Given the description of an element on the screen output the (x, y) to click on. 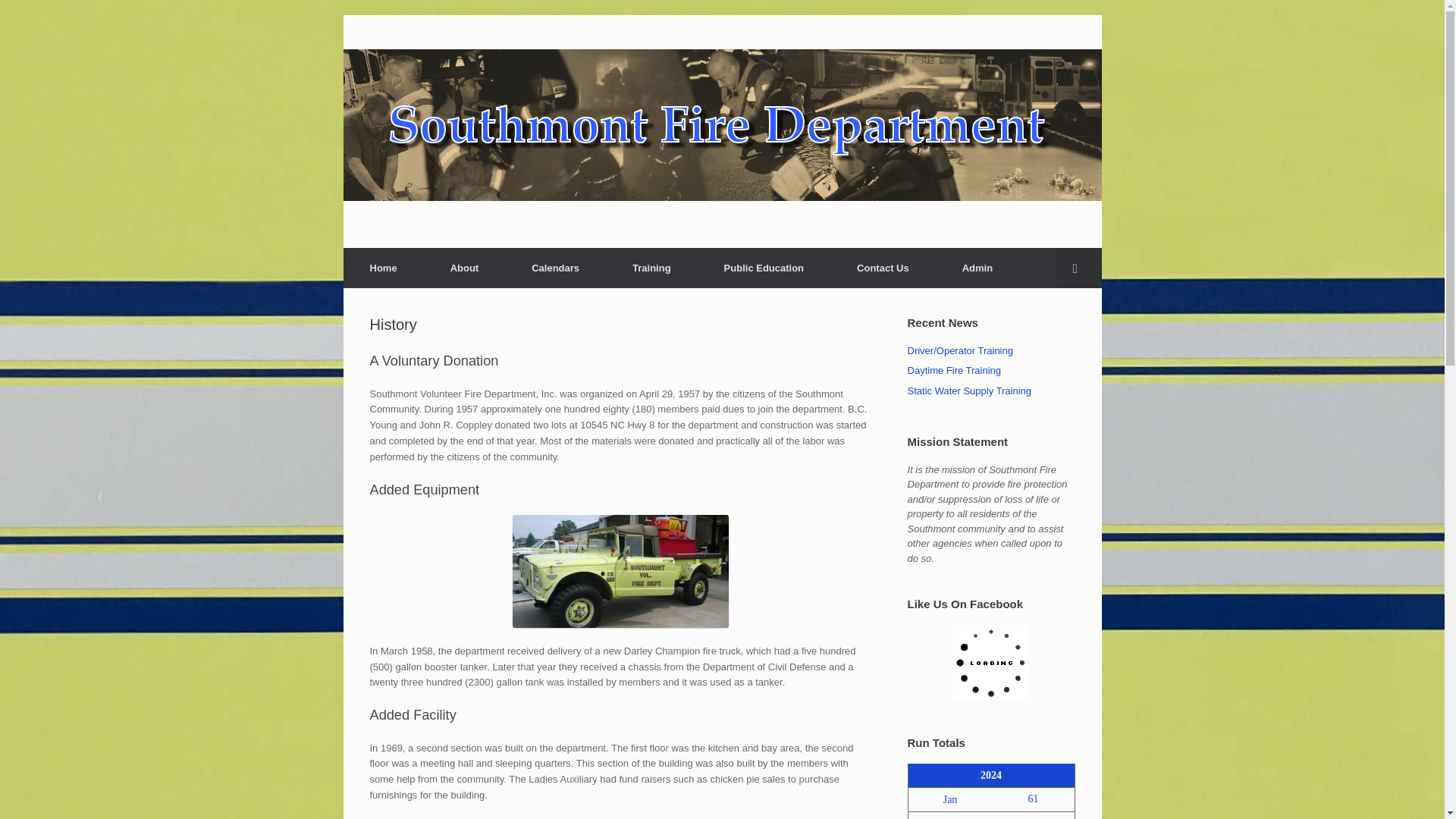
Contact Us (882, 268)
Training (651, 268)
About (464, 268)
Home (382, 268)
Admin (977, 268)
Southmont Fire Department, Inc. (721, 124)
Public Education (763, 268)
Daytime Fire Training (954, 369)
Static Water Supply Training (969, 390)
